Given the description of an element on the screen output the (x, y) to click on. 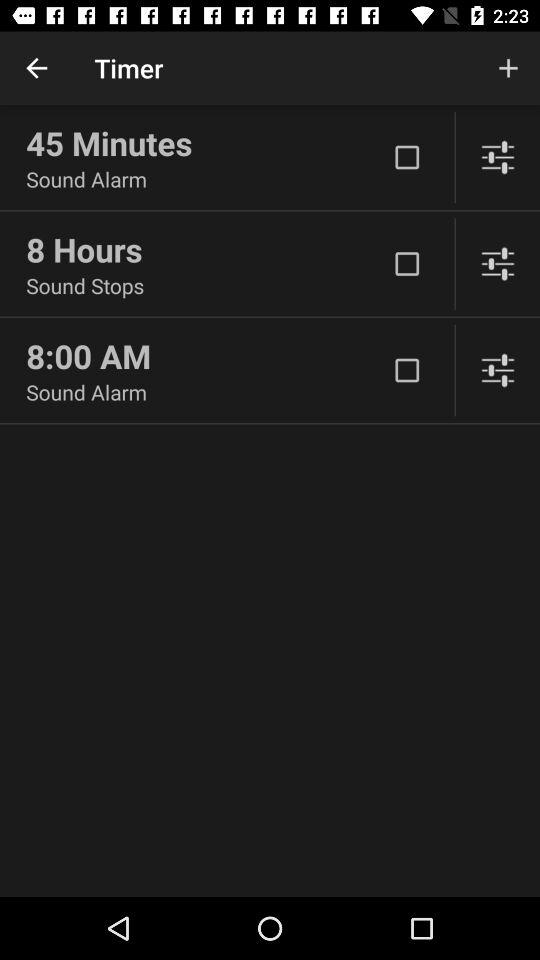
tap the 45 minutes item (206, 143)
